Given the description of an element on the screen output the (x, y) to click on. 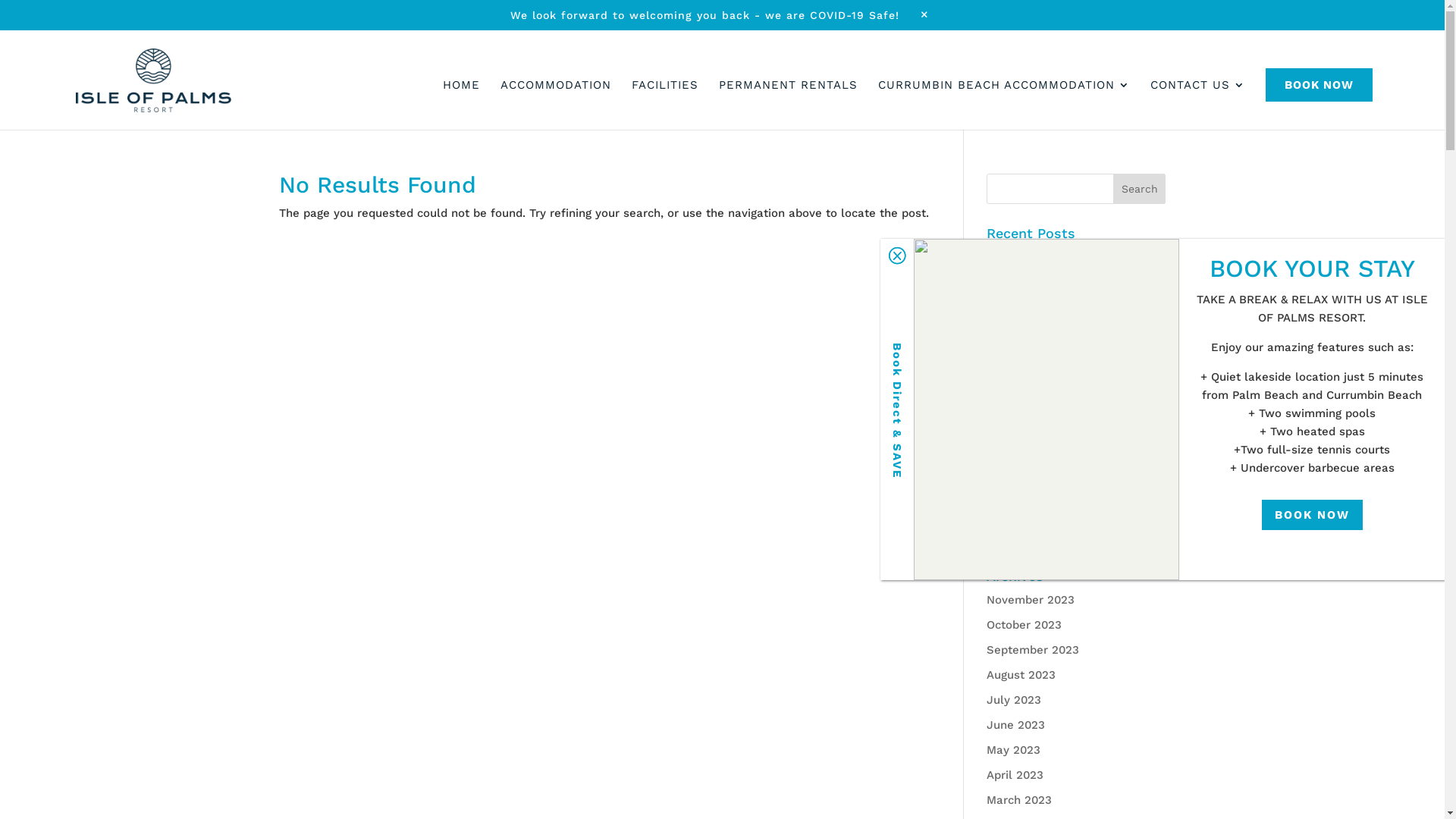
May 2023 Element type: text (1013, 749)
October 2023 Element type: text (1023, 624)
August 2023 Element type: text (1020, 674)
Your Guide to the 12th BLEACH* Festival This August 2023 Element type: text (1069, 473)
FACILITIES Element type: text (664, 92)
CONTACT US Element type: text (1197, 92)
HOME Element type: text (461, 92)
ACCOMMODATION Element type: text (555, 92)
April 2023 Element type: text (1014, 774)
November 2023 Element type: text (1030, 599)
March 2023 Element type: text (1018, 799)
Book Direct & SAVE Element type: text (896, 409)
CURRUMBIN BEACH ACCOMMODATION Element type: text (1003, 92)
PERMANENT RENTALS Element type: text (787, 92)
M Element type: text (924, 15)
September 2023 Element type: text (1032, 649)
Search Element type: text (1139, 188)
Have Some Halloween Fun at Currumbin Wildlife Sanctuary Element type: text (1069, 374)
BOOK NOW Element type: text (1311, 514)
BOOK NOW Element type: text (1318, 84)
Islel Of Palms 016 Element type: hover (1046, 409)
July 2023 Element type: text (1013, 699)
Celebrate Christmas in Style at a Lakeside Resort Element type: text (1074, 266)
June 2023 Element type: text (1015, 724)
